Given the description of an element on the screen output the (x, y) to click on. 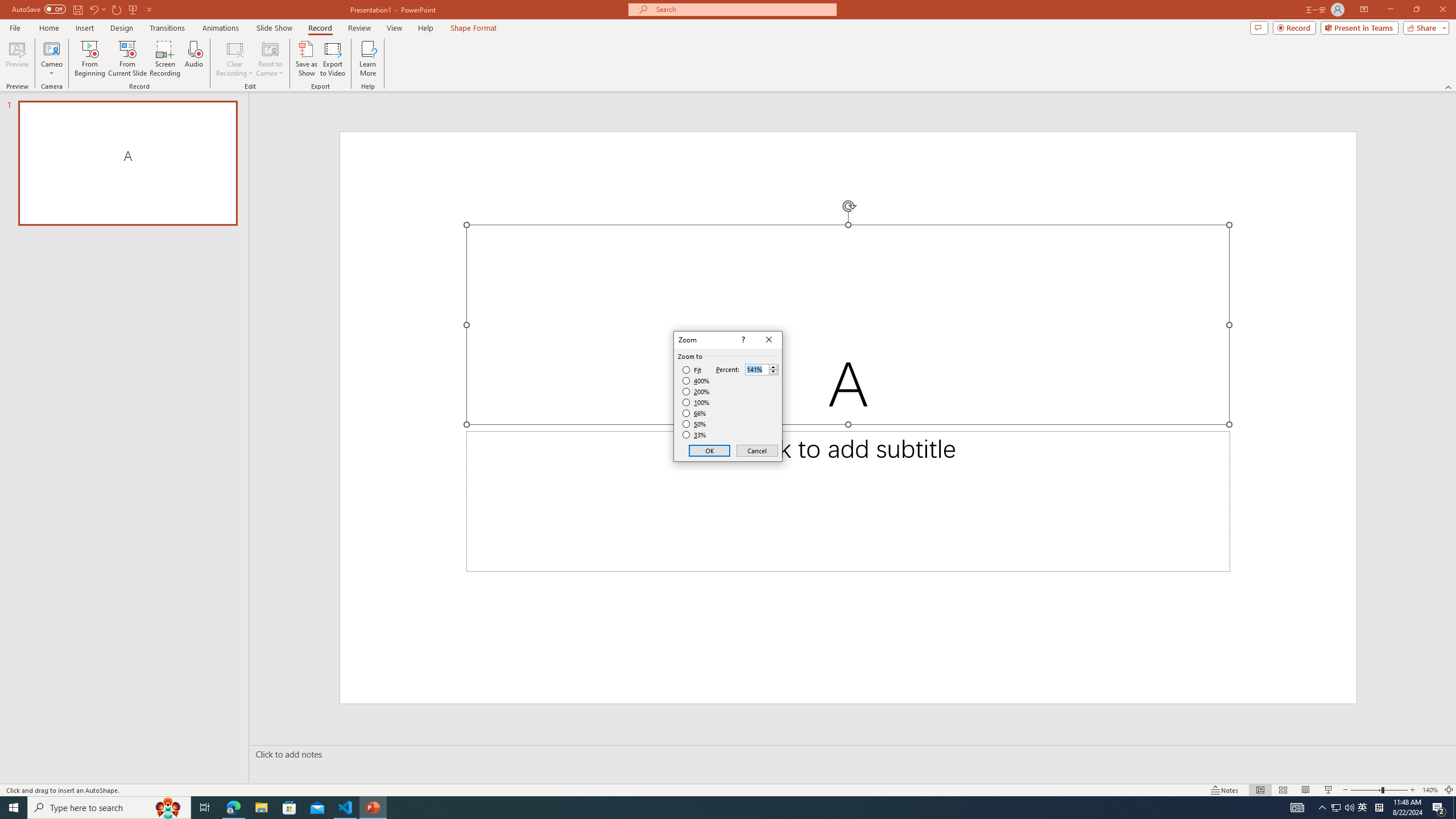
Percent (756, 369)
Context help (742, 339)
